Given the description of an element on the screen output the (x, y) to click on. 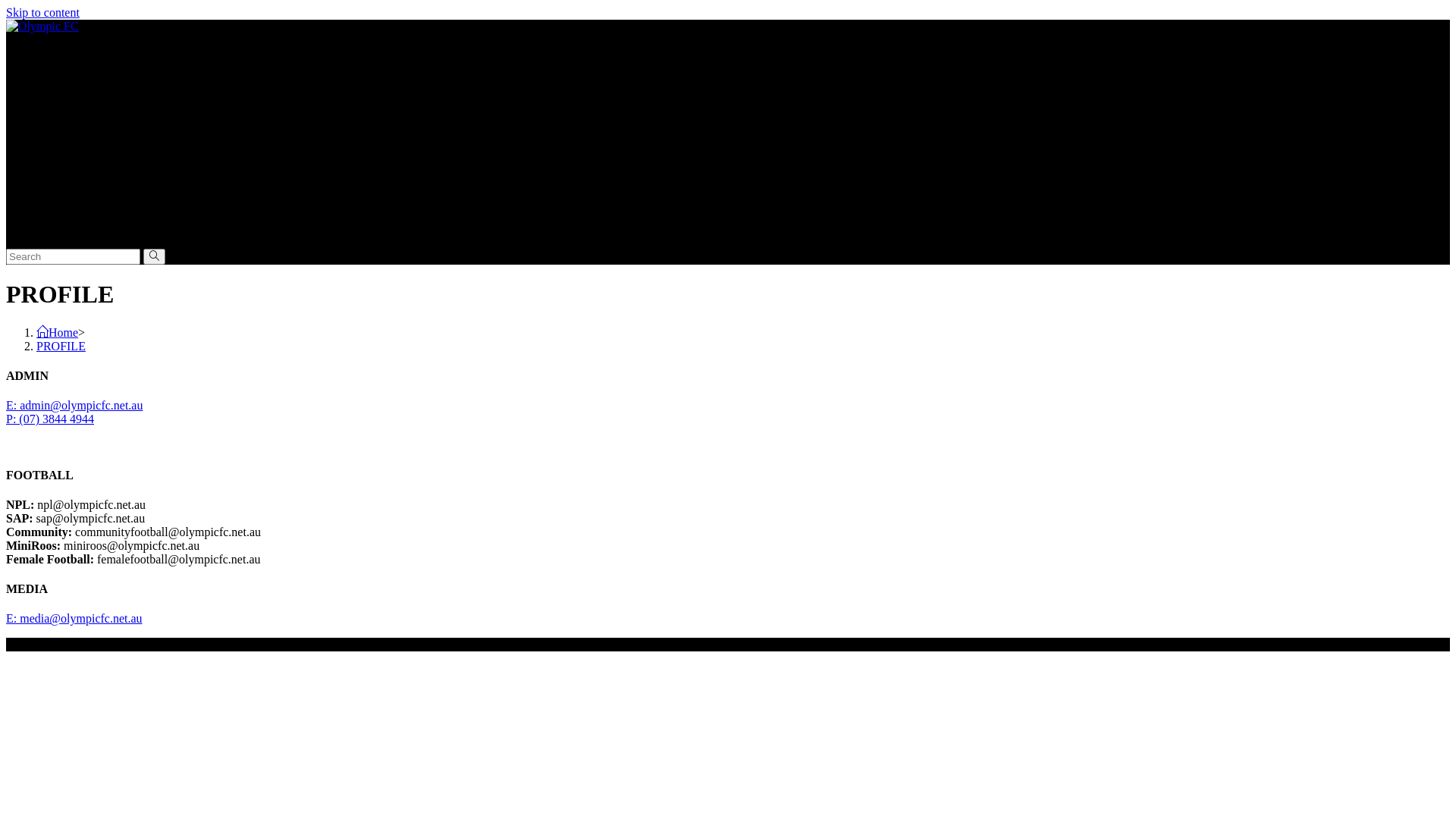
P: (07) 3844 4944 Element type: text (50, 418)
E: media@olympicfc.net.au Element type: text (74, 617)
PROFILE Element type: text (60, 345)
E: admin@olympicfc.net.au Element type: text (74, 404)
Skip to content Element type: text (42, 12)
Home Element type: text (57, 332)
